Given the description of an element on the screen output the (x, y) to click on. 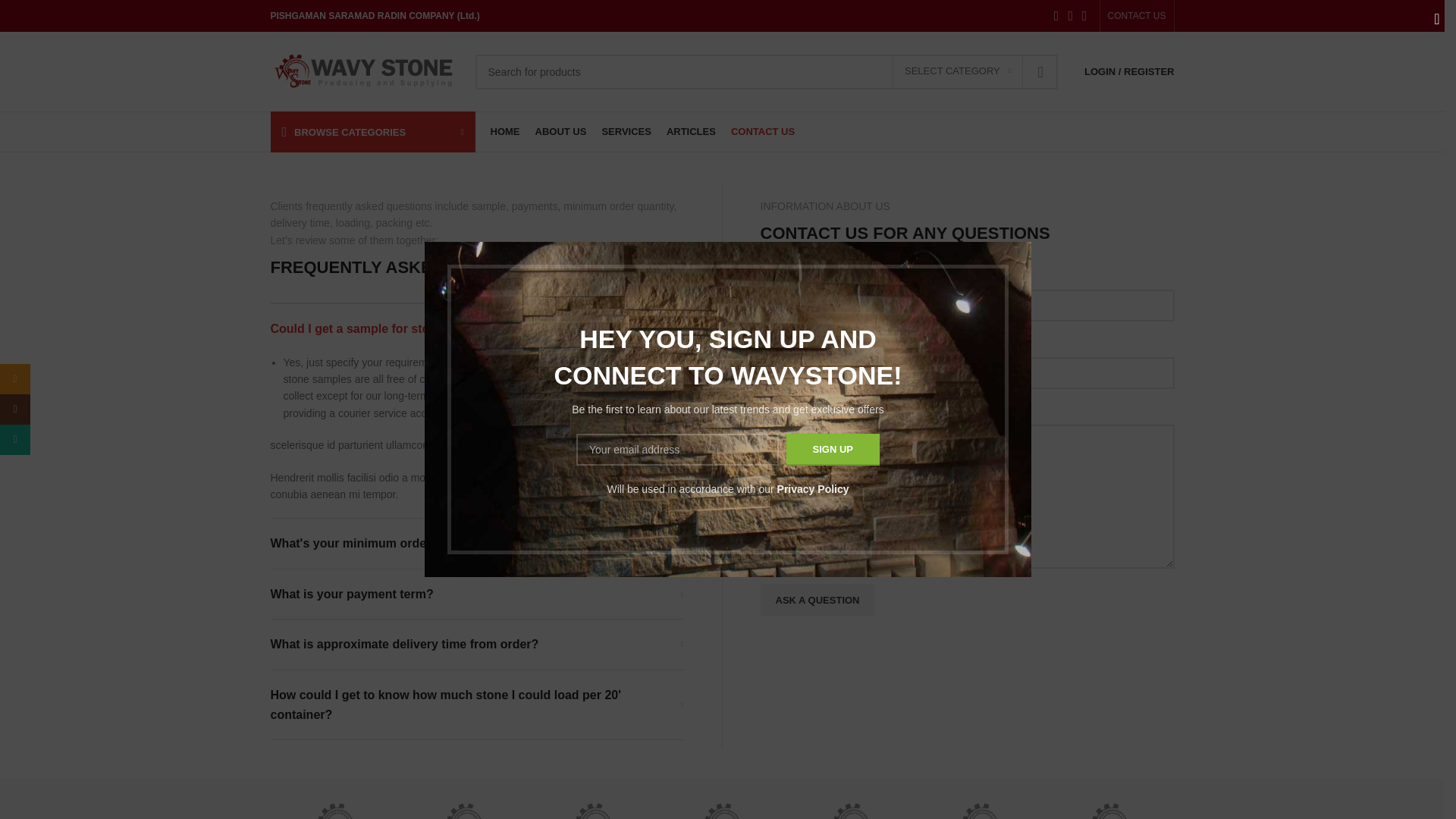
CONTACT US (1137, 15)
Search for products (766, 71)
Privacy Policy (812, 489)
SELECT CATEGORY (957, 71)
My account (1128, 71)
Sign up (832, 450)
Sign up (832, 450)
SEARCH (1040, 71)
ASK A QUESTION (817, 599)
SELECT CATEGORY (957, 71)
